Given the description of an element on the screen output the (x, y) to click on. 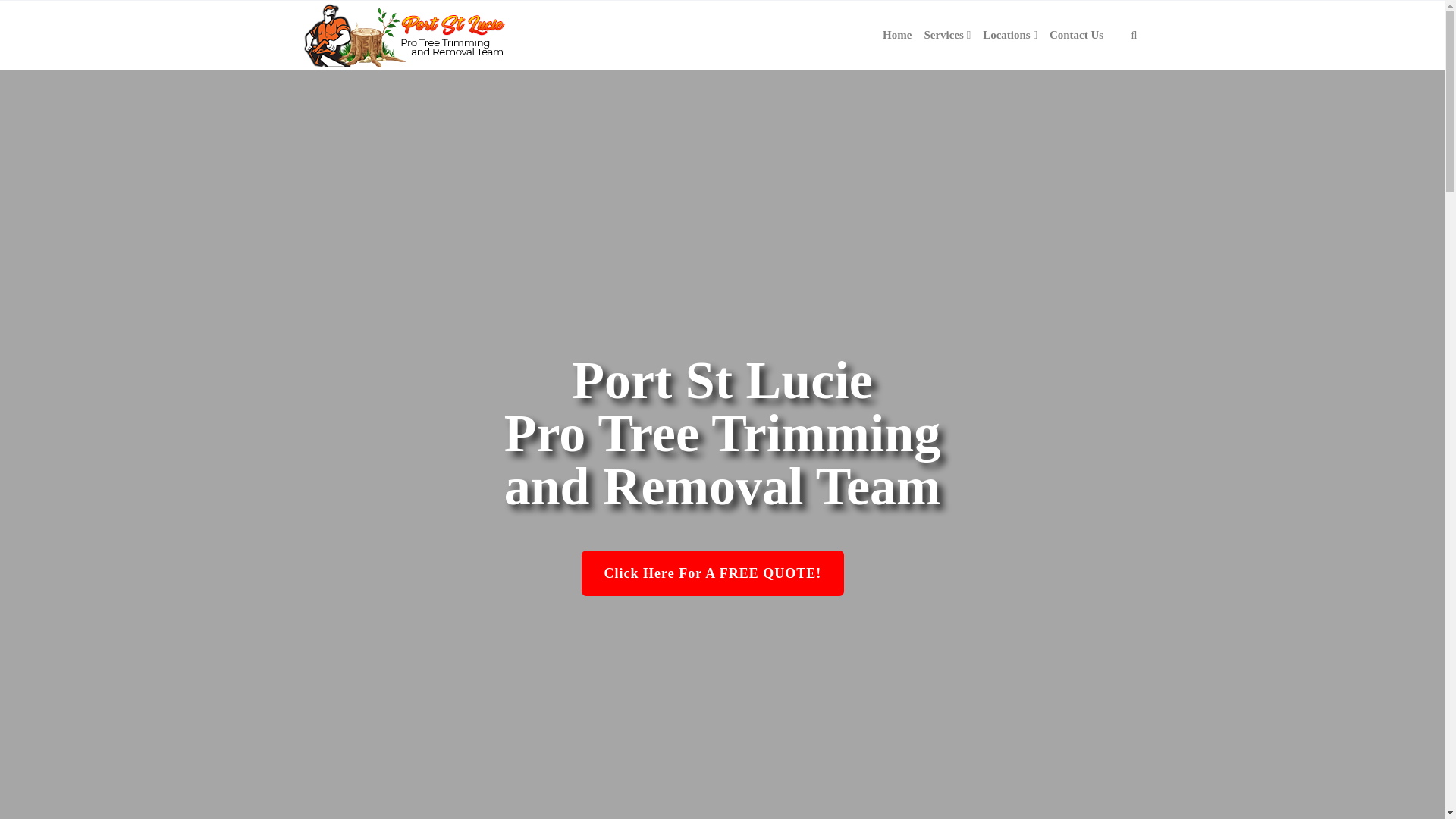
Locations (1009, 34)
Contact Us (1076, 34)
Locations (1009, 34)
Port St Lucie Pro Tree Trimming and Removal Team (406, 34)
